Given the description of an element on the screen output the (x, y) to click on. 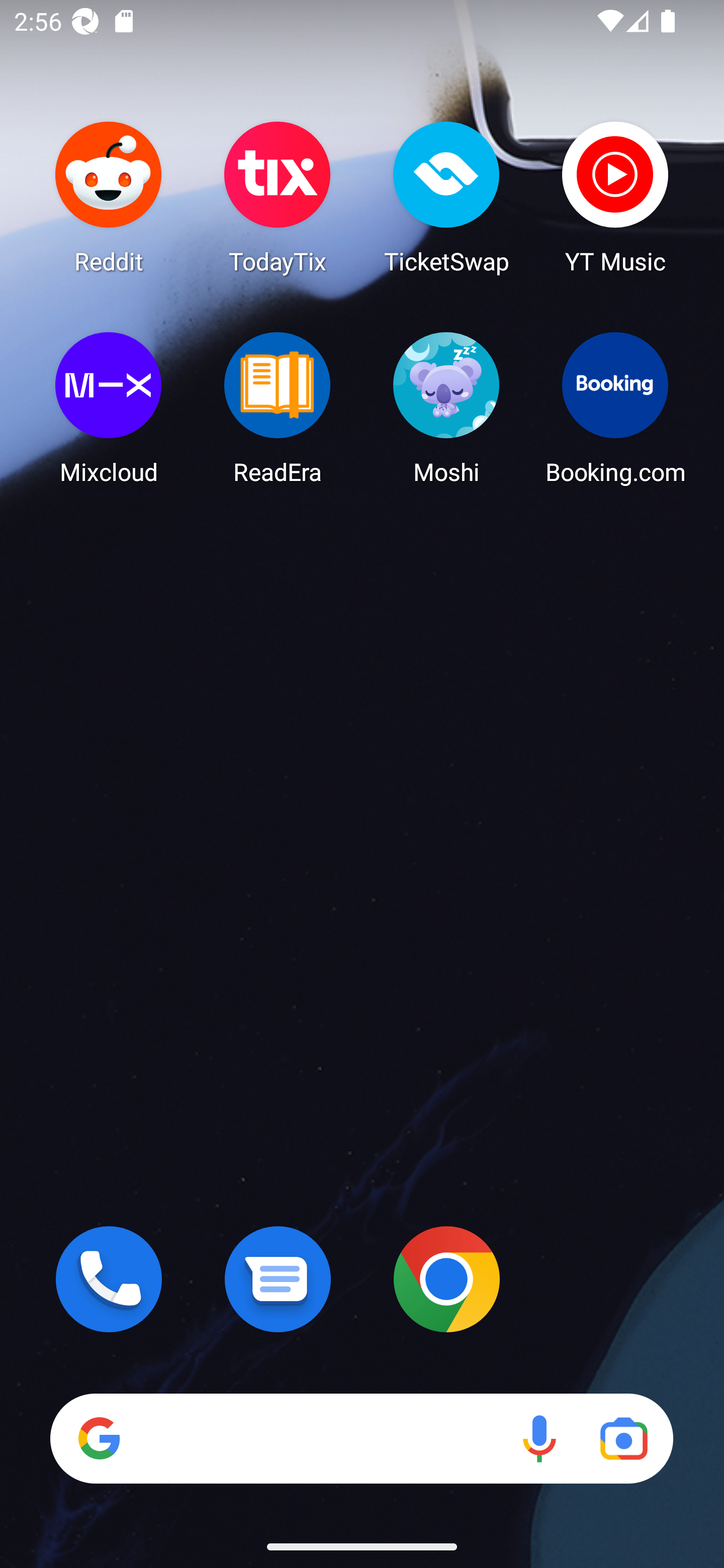
Reddit (108, 196)
TodayTix (277, 196)
TicketSwap (445, 196)
YT Music (615, 196)
Mixcloud (108, 407)
ReadEra (277, 407)
Moshi (445, 407)
Booking.com (615, 407)
Phone (108, 1279)
Messages (277, 1279)
Chrome (446, 1279)
Search Voice search Google Lens (361, 1438)
Voice search (539, 1438)
Google Lens (623, 1438)
